Given the description of an element on the screen output the (x, y) to click on. 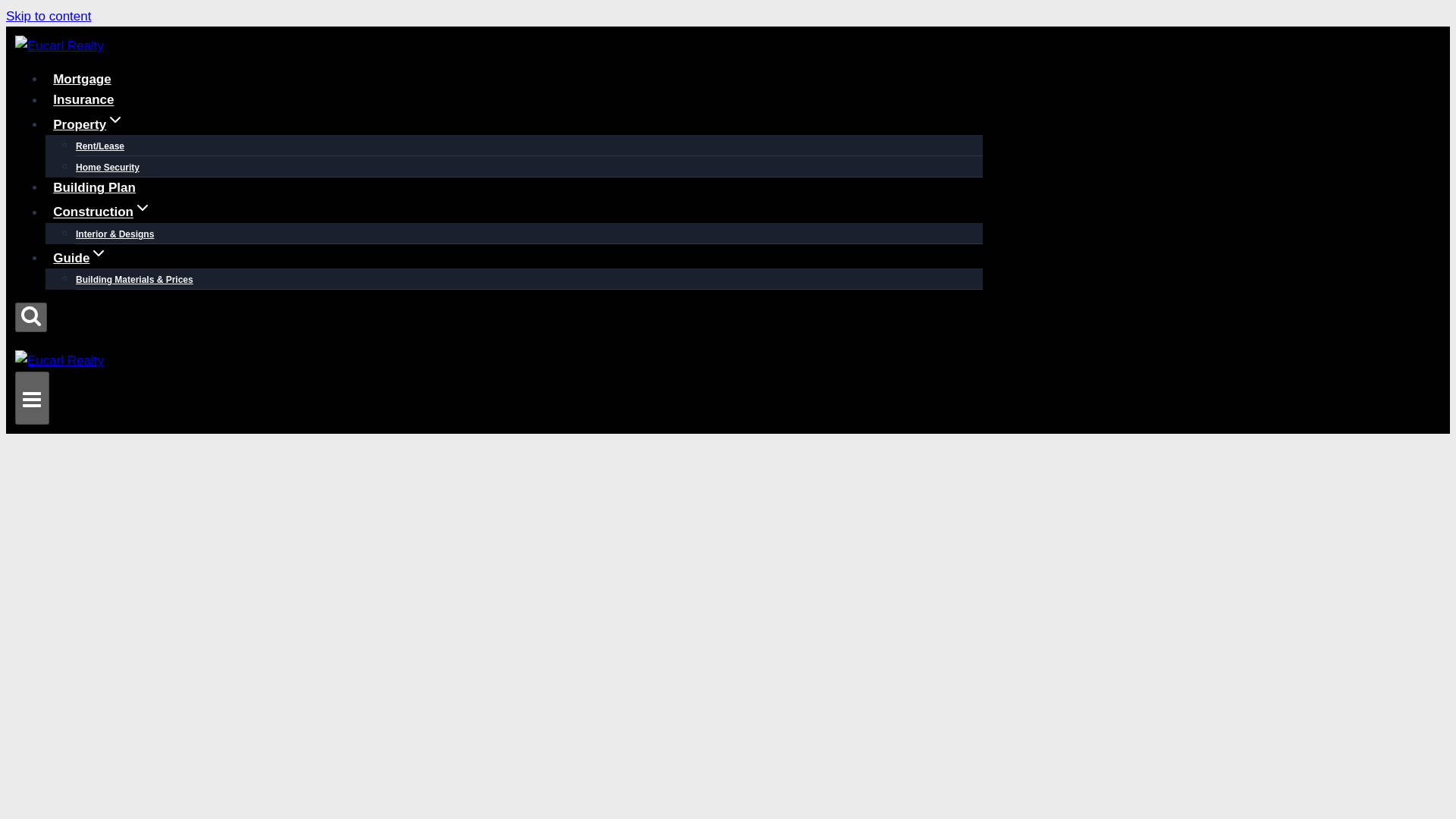
Search (30, 314)
GuideExpand (80, 257)
Mortgage (82, 79)
ConstructionExpand (101, 211)
PropertyExpand (88, 124)
Expand (97, 253)
Skip to content (47, 16)
Building Plan (93, 187)
Insurance (83, 99)
Home Security (107, 167)
